Given the description of an element on the screen output the (x, y) to click on. 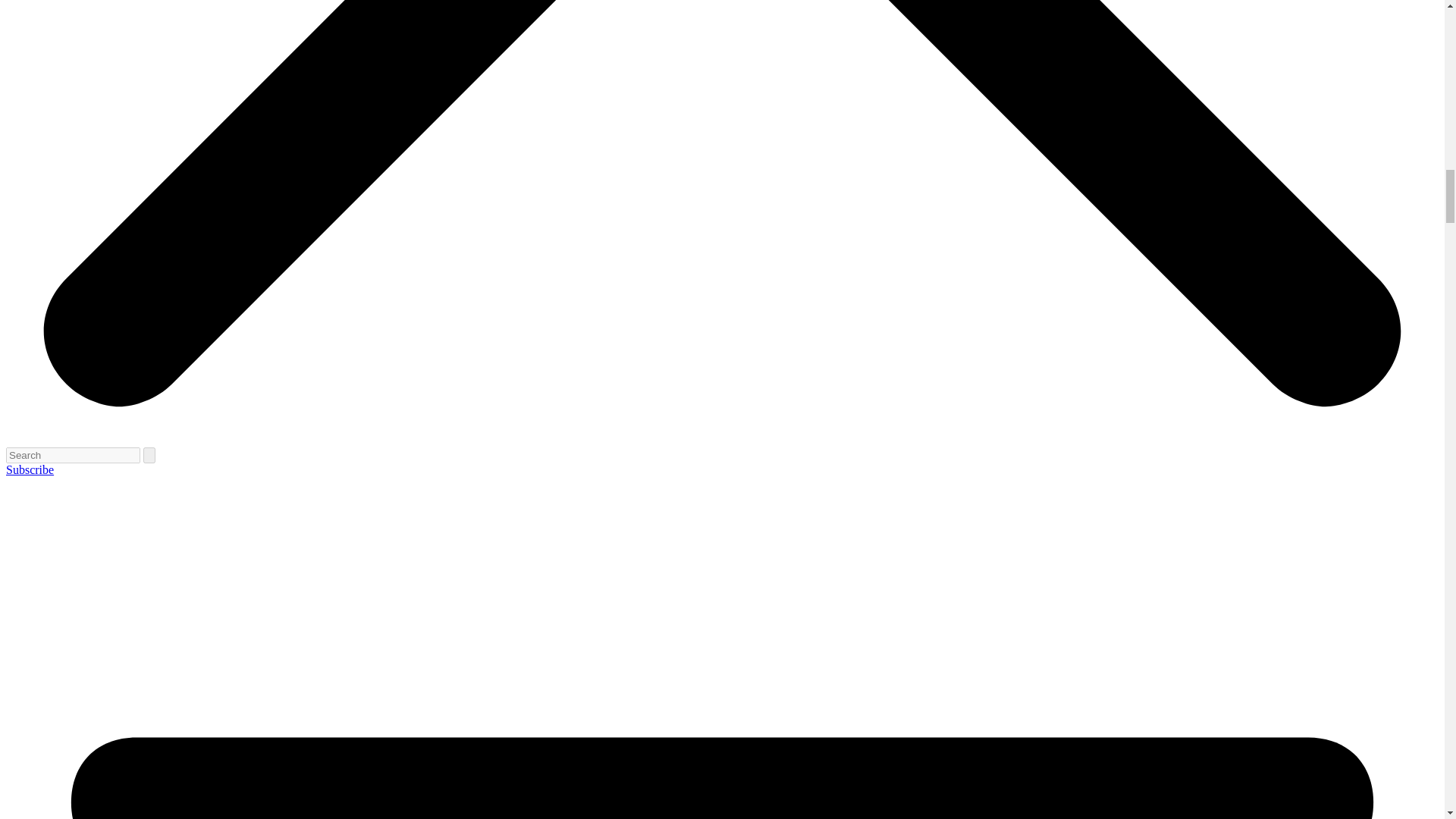
Subscribe (29, 469)
Submit the search query. (148, 455)
